Given the description of an element on the screen output the (x, y) to click on. 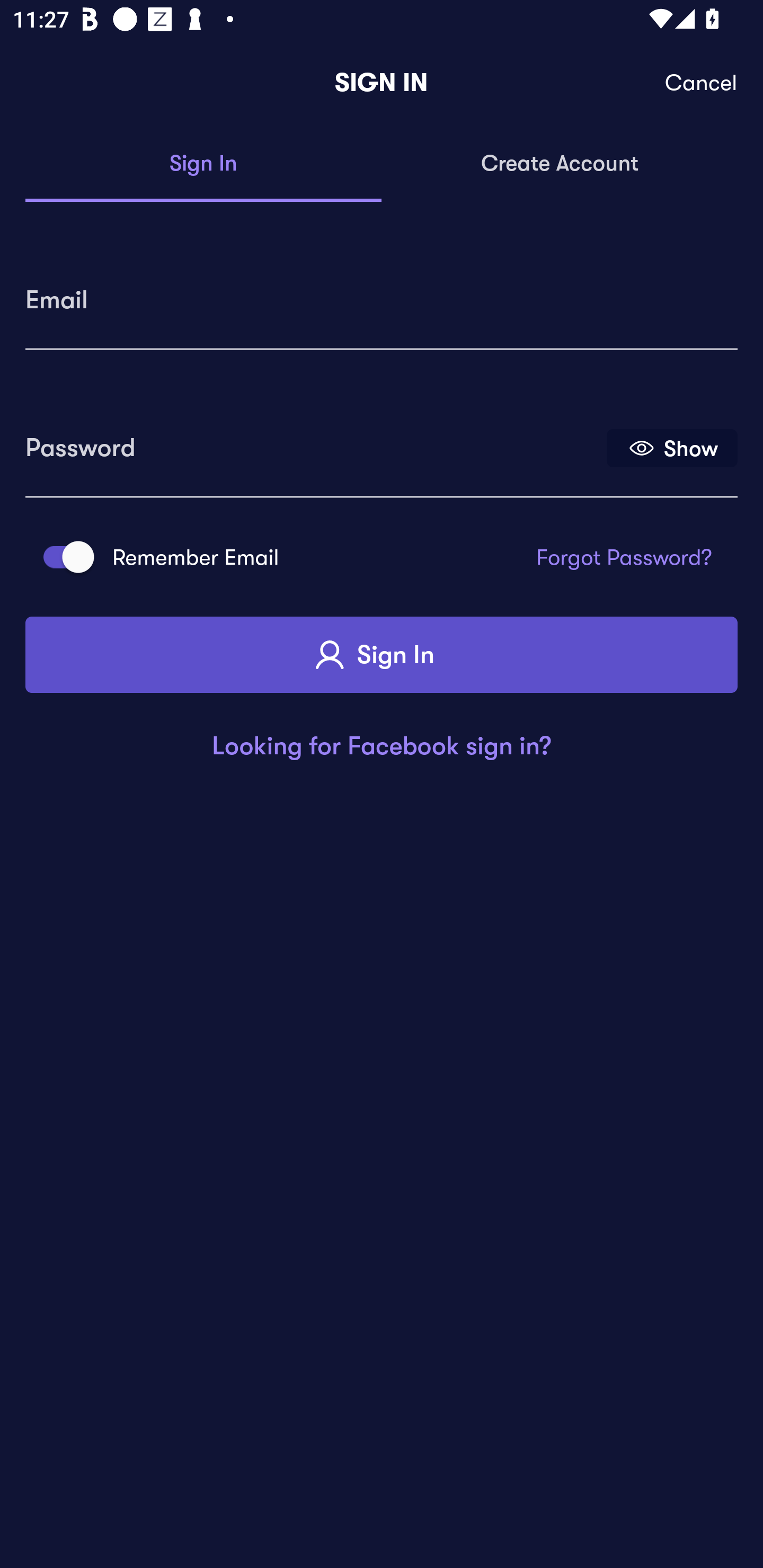
Cancel (701, 82)
Sign In (203, 164)
Create Account (559, 164)
Email (381, 293)
Password (314, 441)
Show Password Show (671, 447)
Remember Email (62, 557)
Sign In (381, 654)
